Given the description of an element on the screen output the (x, y) to click on. 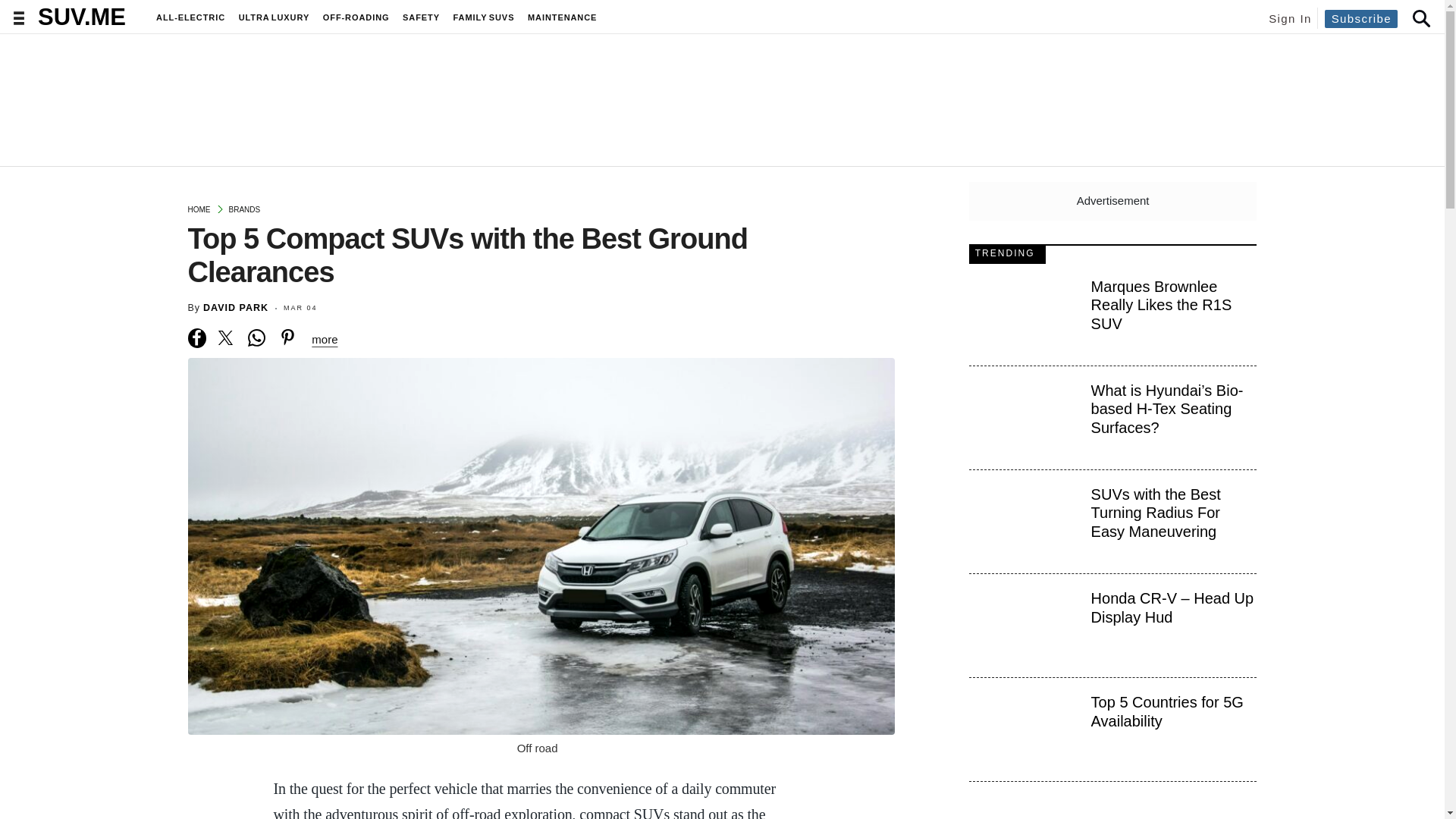
34 topics (355, 17)
Share on Pinterest (288, 337)
Share on Twitter (225, 337)
Search button (1420, 17)
Sign In (1289, 18)
67 topics (483, 17)
Share on Facebook (196, 338)
Menu button (18, 17)
Subscribe (1360, 18)
65 topics (421, 17)
Share on WhatsApp (256, 337)
61 topics (190, 17)
43 topics (274, 17)
76 topics (561, 17)
